Given the description of an element on the screen output the (x, y) to click on. 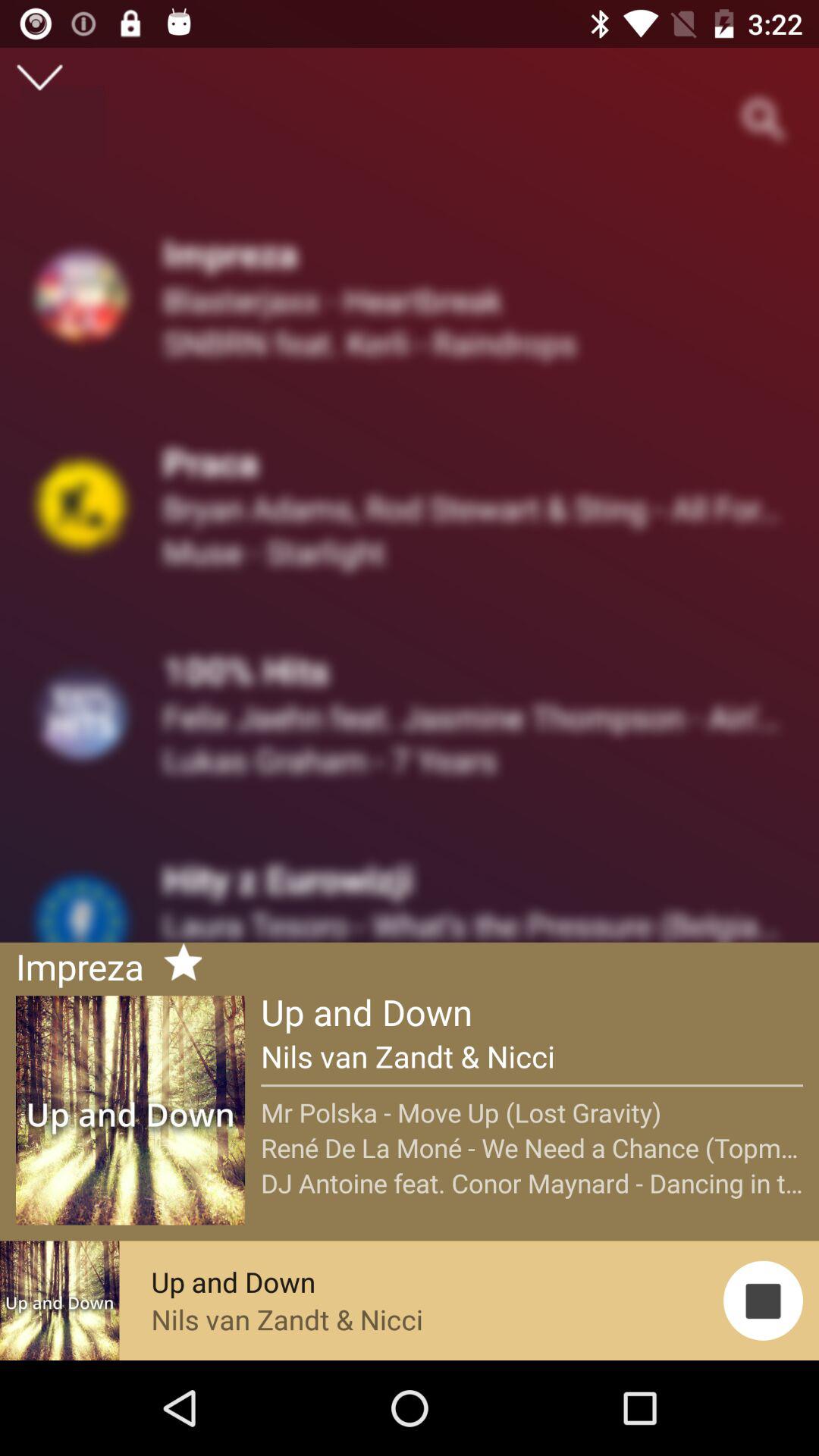
favorite up and down (176, 964)
